Given the description of an element on the screen output the (x, y) to click on. 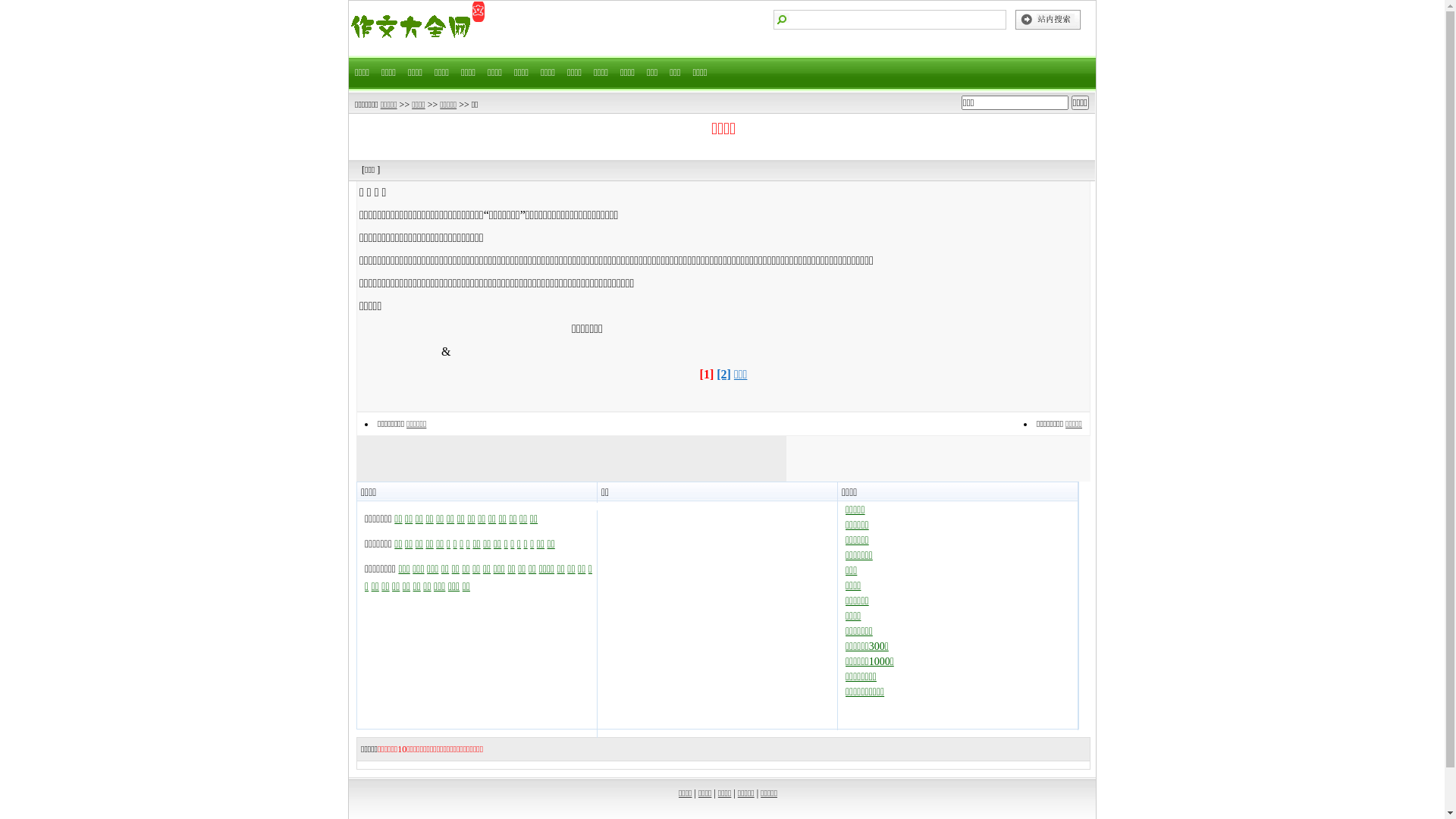
[2] Element type: text (723, 373)
